Given the description of an element on the screen output the (x, y) to click on. 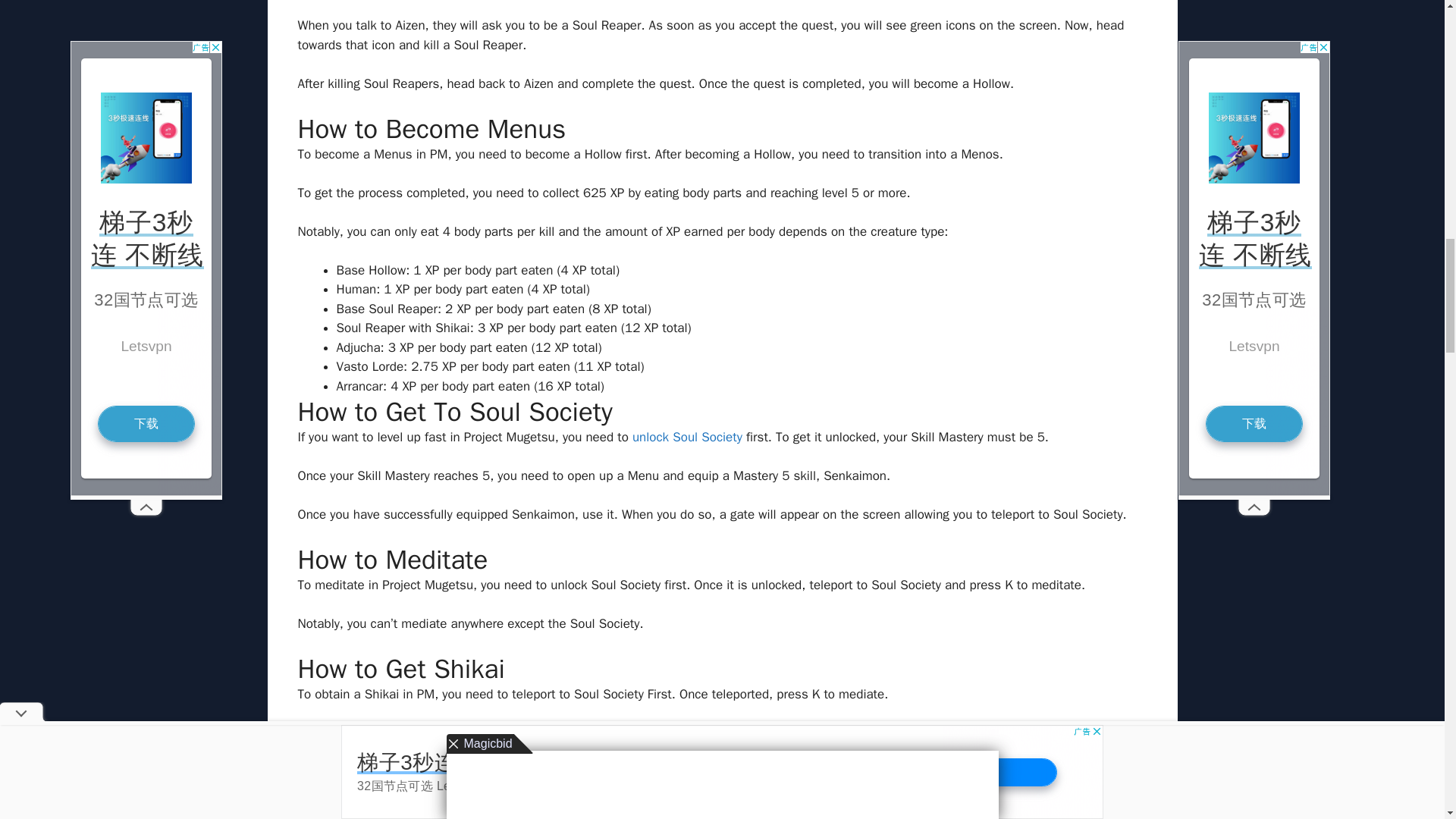
get a Shikai (346, 732)
unlock Soul Society (686, 437)
